Given the description of an element on the screen output the (x, y) to click on. 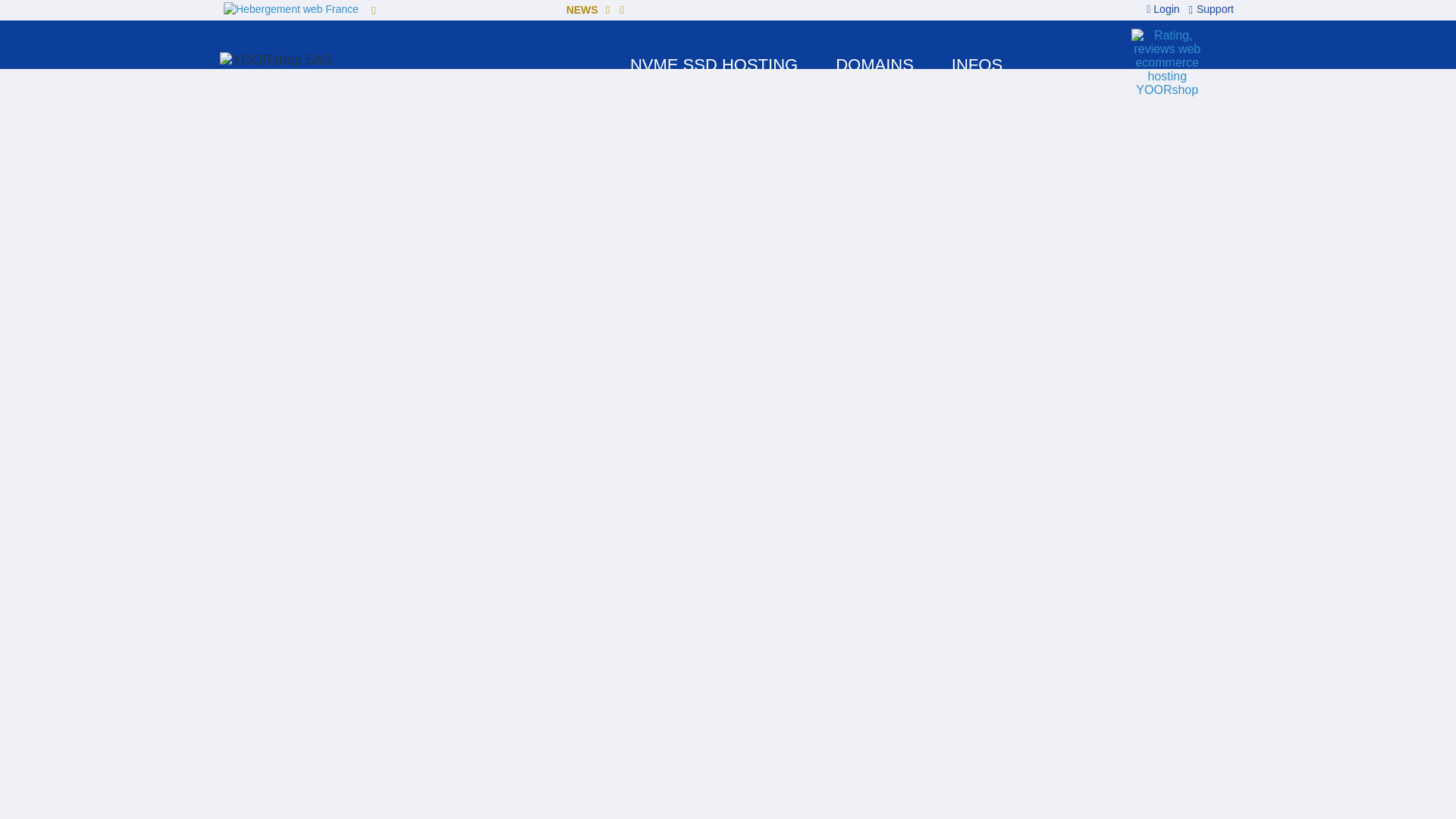
News (369, 10)
INFOS (977, 64)
Domains (874, 64)
Support (1209, 9)
NVME SSD HOSTING (713, 64)
Login (1164, 9)
DOMAINS (874, 64)
Support (1209, 9)
Login (1164, 9)
